Given the description of an element on the screen output the (x, y) to click on. 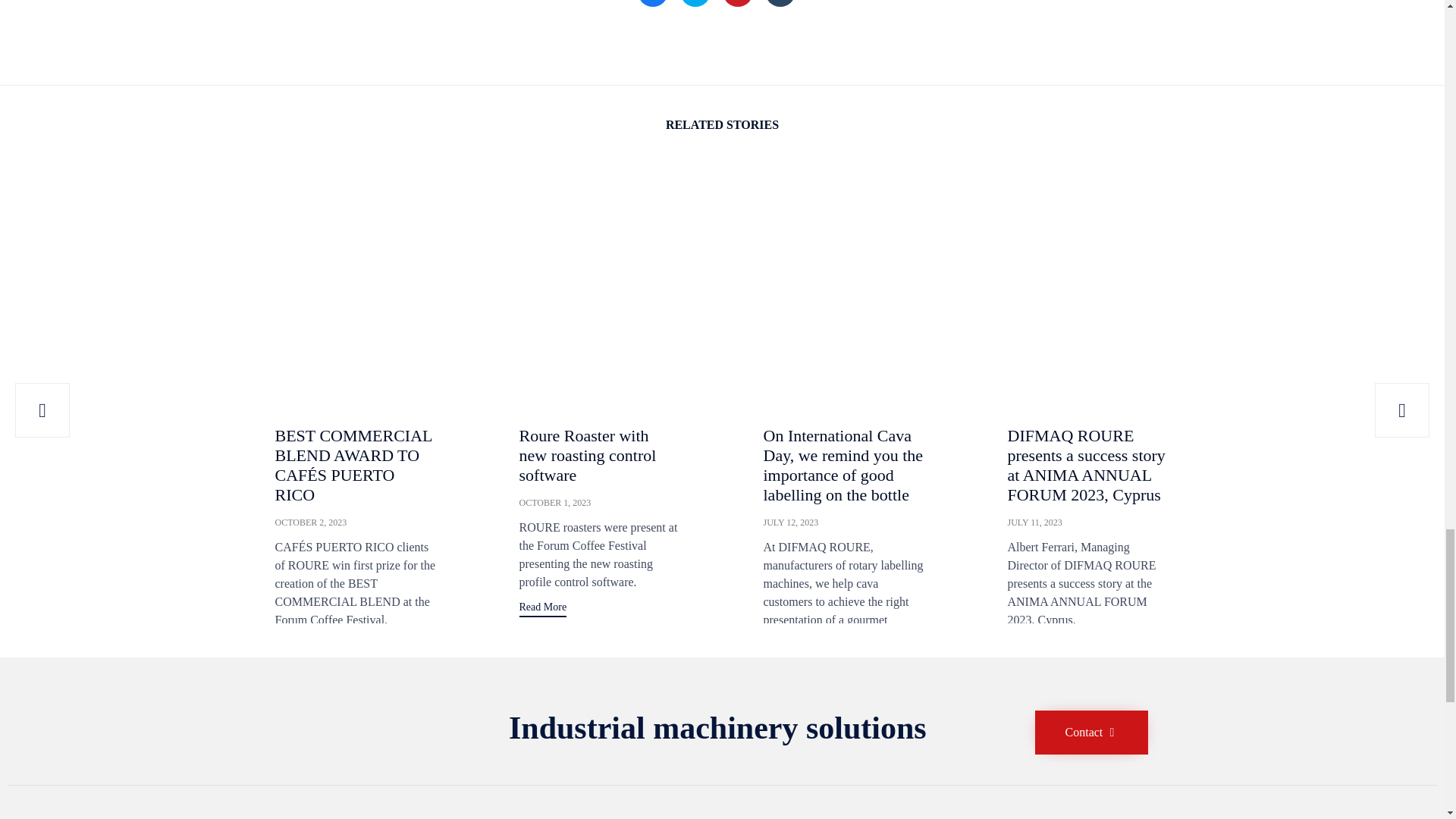
Roure Roaster with new roasting control software (587, 455)
Click to share on Tumblr (779, 3)
Click to share on Facebook (651, 3)
Click to share on Pinterest (737, 3)
Click to share on Twitter (694, 3)
Roure Roaster with new roasting control software (598, 239)
Roure Roaster with new roasting control software (554, 502)
